Given the description of an element on the screen output the (x, y) to click on. 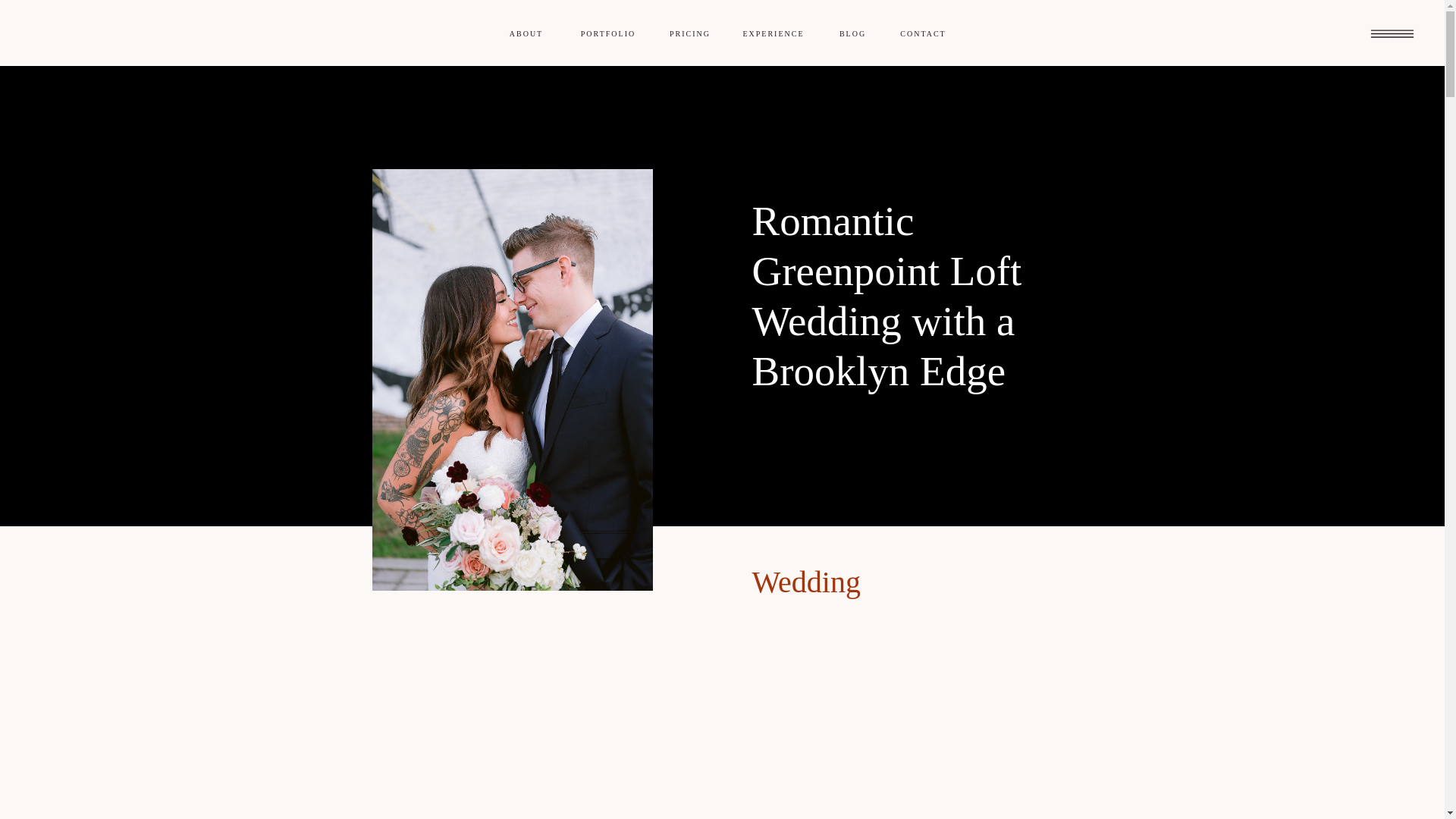
PRICING (688, 32)
PORTFOLIO (608, 32)
Wedding (806, 581)
ABOUT (525, 32)
EXPERIENCE (772, 32)
CONTACT (923, 32)
BLOG (853, 32)
